Given the description of an element on the screen output the (x, y) to click on. 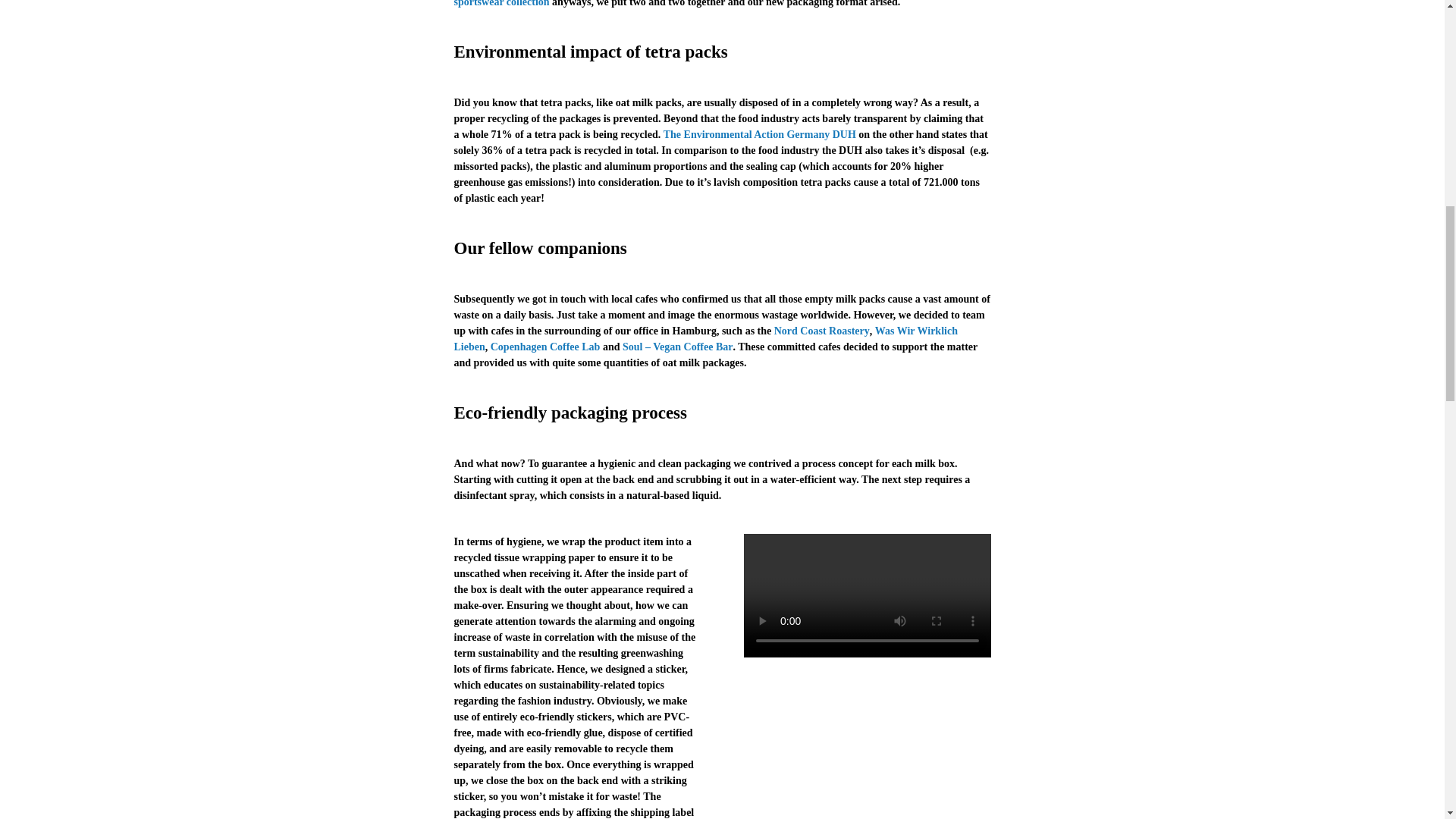
new sportswear collection (713, 3)
The Environmental Action Germany DUH (759, 134)
Copenhagen Coffee Lab (544, 346)
Was Wir Wirklich Lieben (704, 338)
Nord Coast Roastery (821, 330)
